Given the description of an element on the screen output the (x, y) to click on. 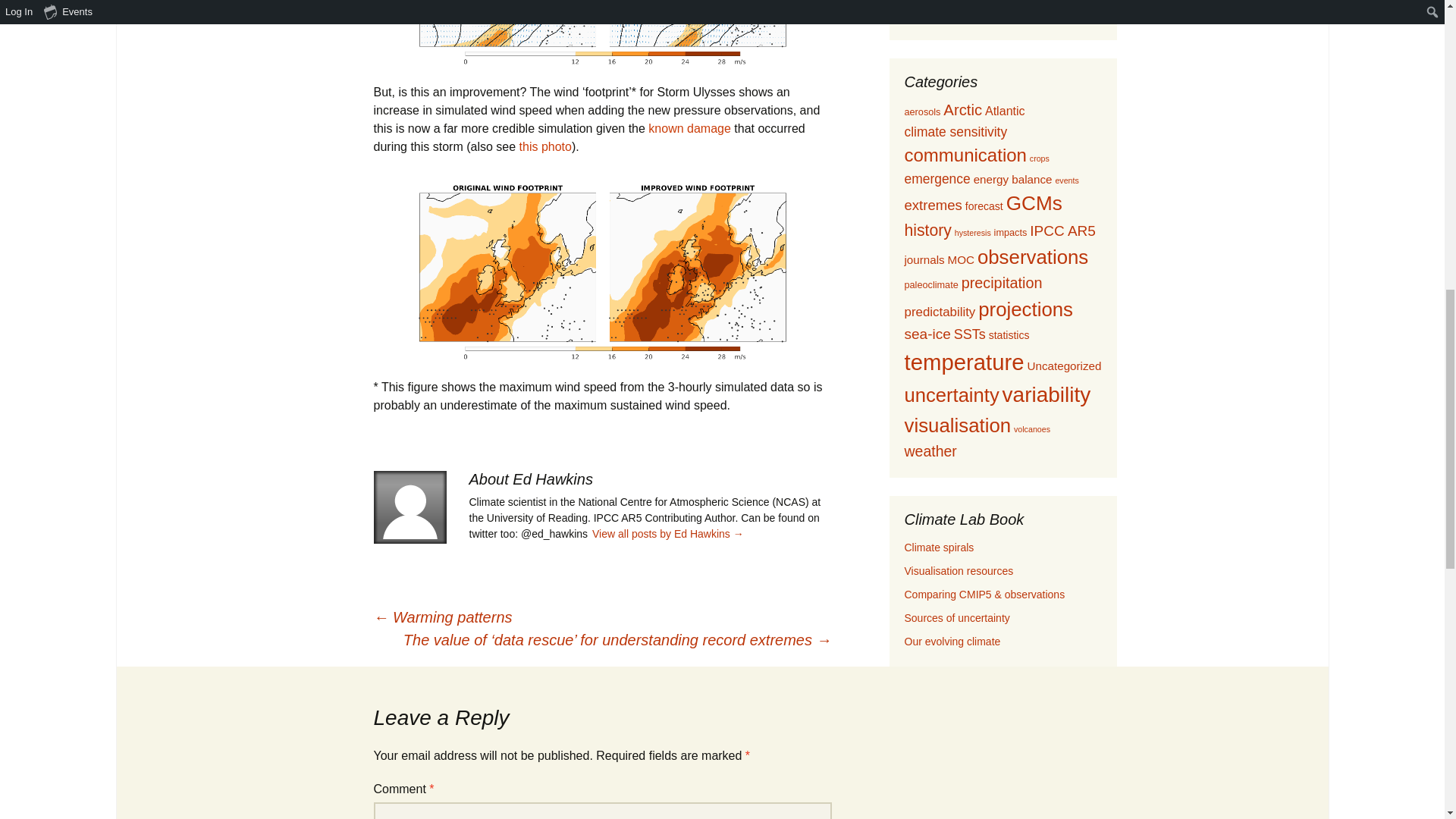
known damage (688, 128)
this photo (545, 146)
